Given the description of an element on the screen output the (x, y) to click on. 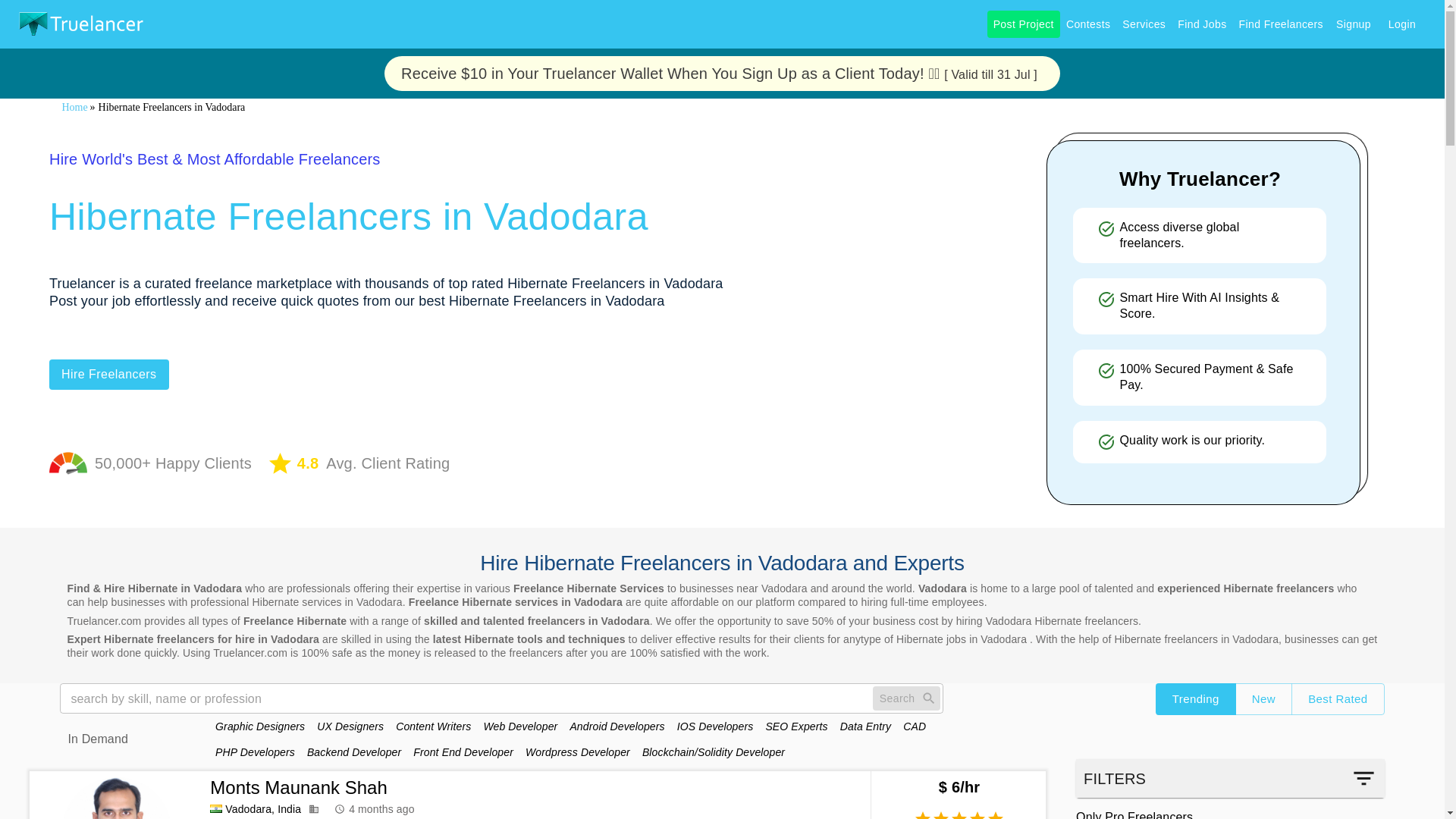
Home (74, 107)
SEO Experts (796, 726)
Find Jobs (1201, 24)
Login (1401, 24)
Web Developer (520, 726)
PHP Developers (255, 752)
Front End Developer (463, 752)
Backend Developer (354, 752)
UX Designers (350, 726)
Contests (1087, 24)
Post Project (1023, 24)
Services (1144, 24)
Data Entry (865, 726)
Graphic Designers (259, 726)
Hire Freelancers (108, 374)
